Given the description of an element on the screen output the (x, y) to click on. 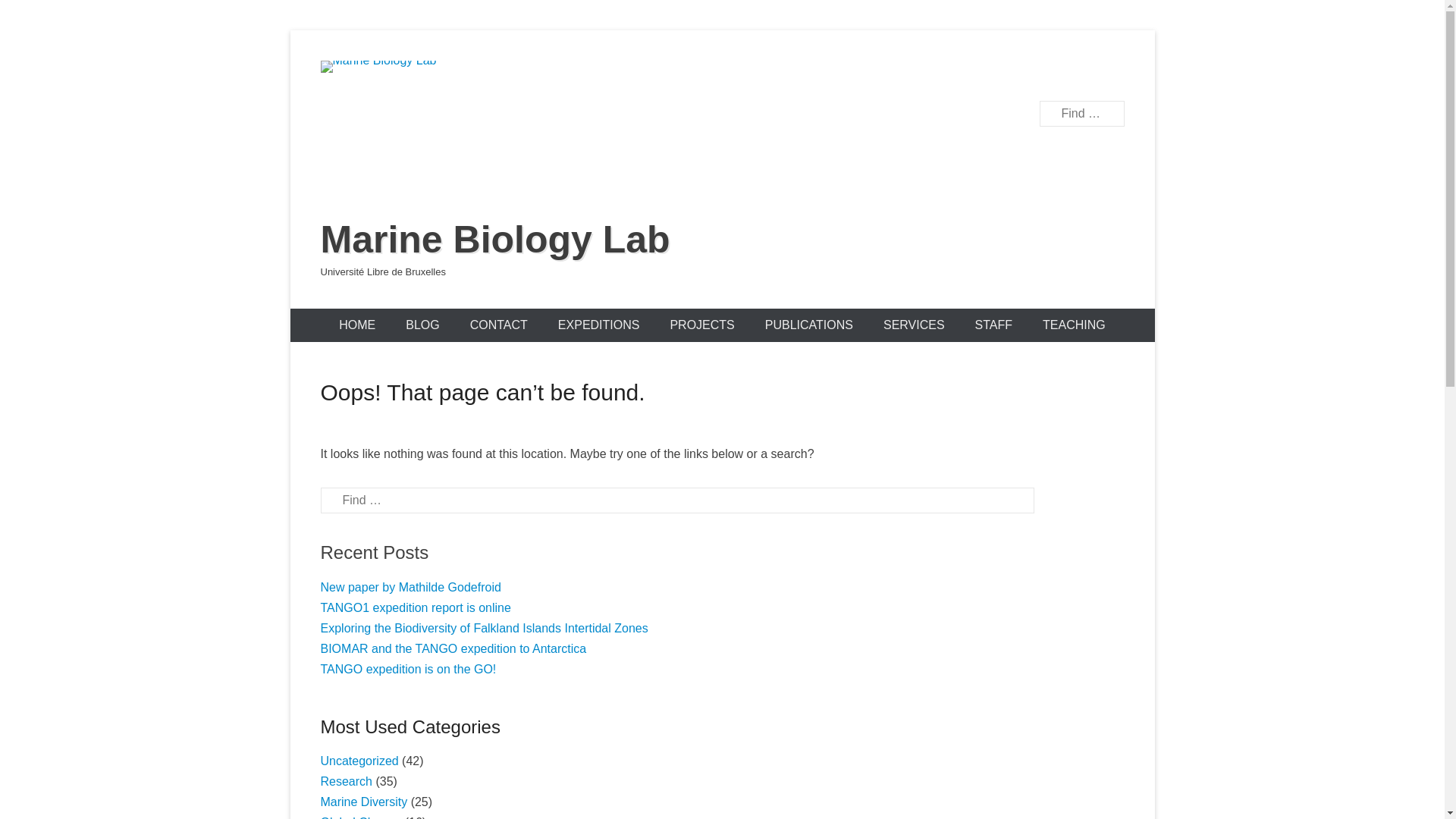
TANGO expedition is on the GO! Element type: text (407, 668)
Skip to content Element type: text (289, 29)
Search Element type: text (32, 15)
BIOMAR and the TANGO expedition to Antarctica Element type: text (453, 648)
LinkedIn Element type: text (1078, 72)
Twitter Element type: text (1046, 72)
SERVICES Element type: text (914, 325)
Marine Diversity Element type: text (363, 801)
STAFF Element type: text (993, 325)
PUBLICATIONS Element type: text (808, 325)
Marine Biology Lab Element type: text (494, 239)
New paper by Mathilde Godefroid Element type: text (410, 586)
CONTACT Element type: text (498, 325)
TANGO1 expedition report is online Element type: text (415, 607)
TEACHING Element type: text (1073, 325)
EXPEDITIONS Element type: text (598, 325)
Uncategorized Element type: text (359, 760)
SlideShare Element type: text (1111, 72)
Research Element type: text (345, 781)
BLOG Element type: text (422, 325)
PROJECTS Element type: text (701, 325)
HOME Element type: text (356, 325)
